Given the description of an element on the screen output the (x, y) to click on. 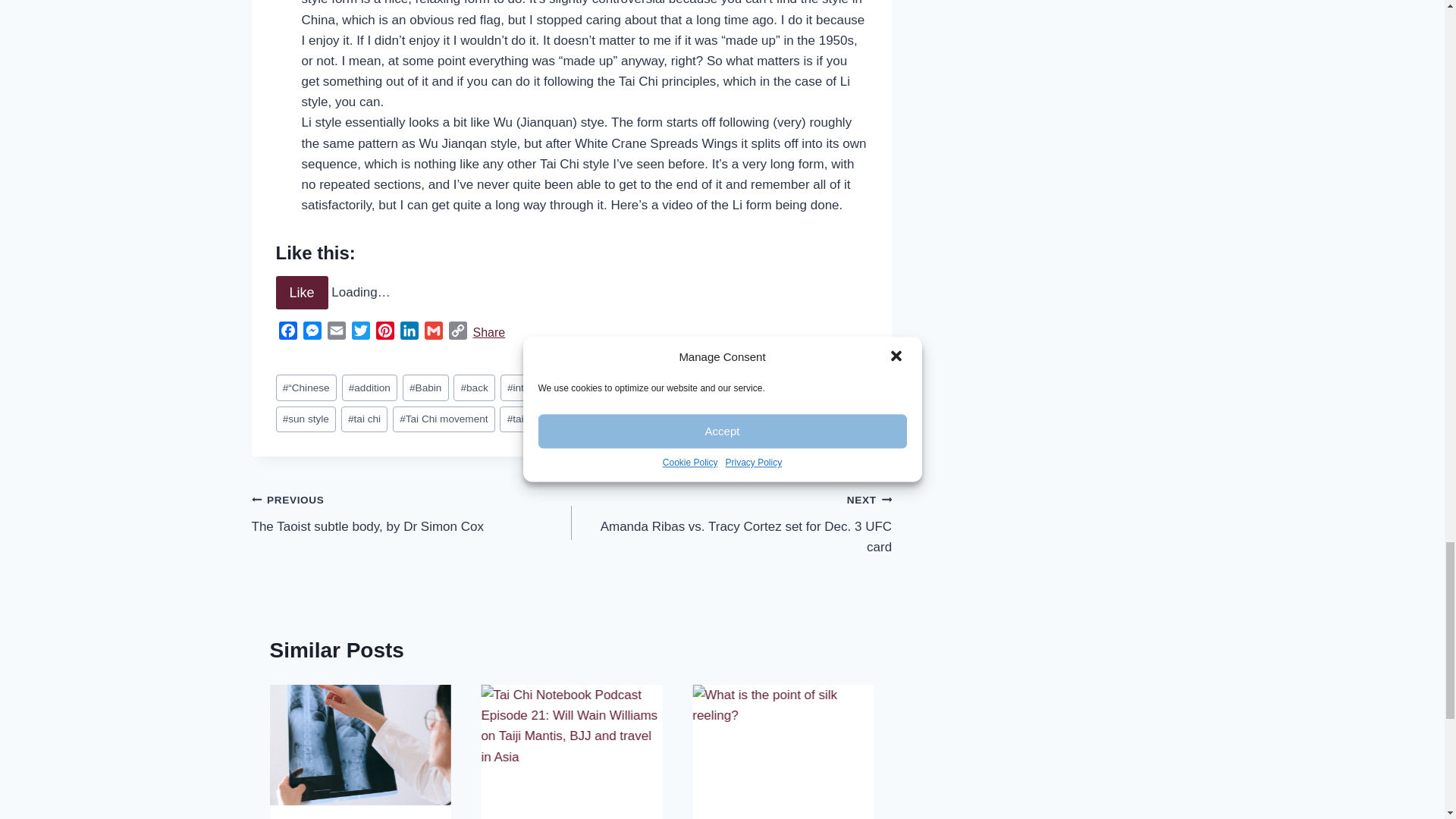
Twitter (360, 332)
LinkedIn (409, 332)
Email (336, 332)
Facebook (287, 332)
Pinterest (384, 332)
Messenger (311, 332)
